Given the description of an element on the screen output the (x, y) to click on. 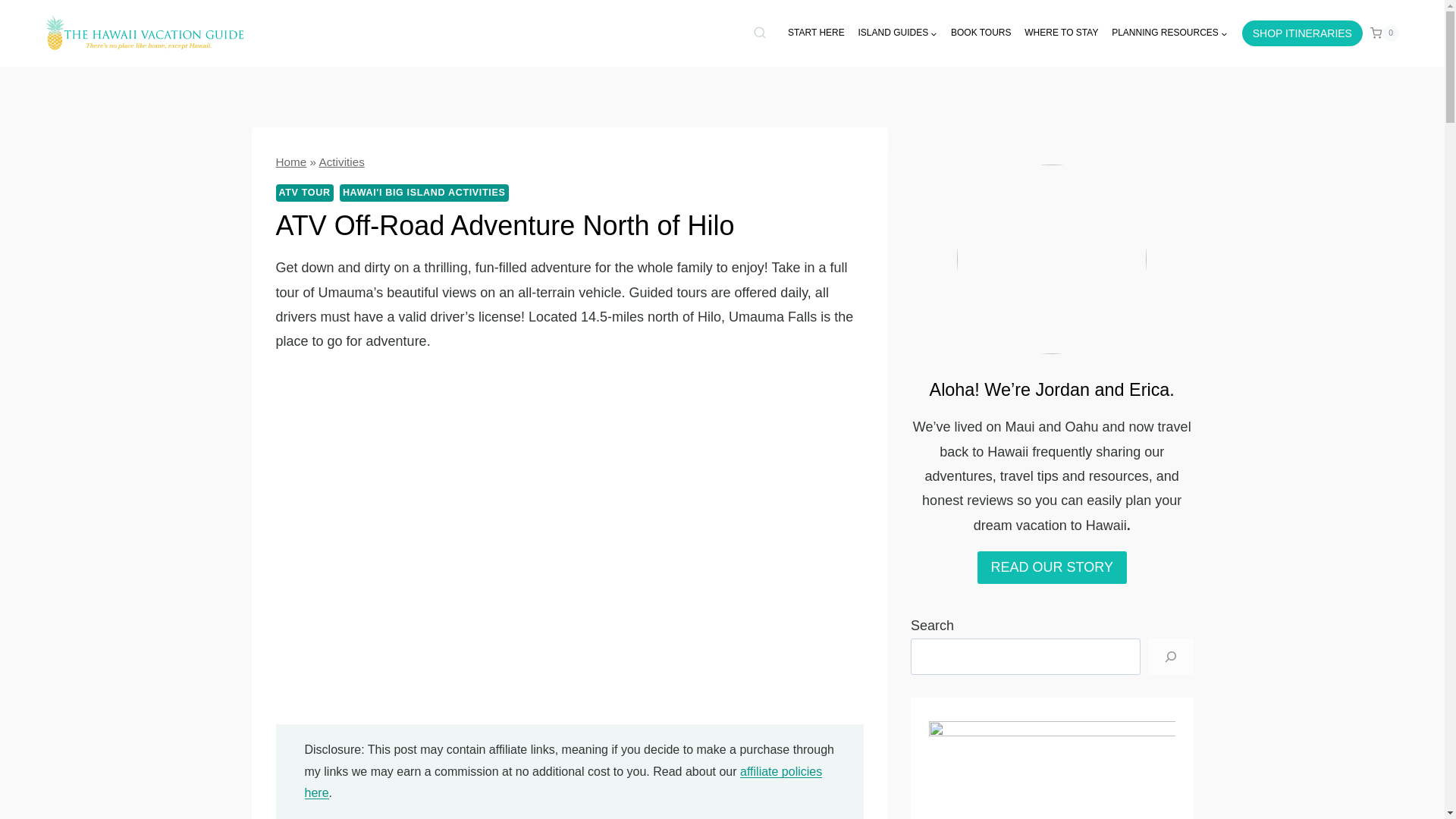
BOOK TOURS (980, 32)
0 (1384, 33)
WHERE TO STAY (1061, 32)
ISLAND GUIDES (897, 32)
PLANNING RESOURCES (1169, 32)
ATV TOUR (304, 192)
Home (291, 161)
affiliate policies here (563, 782)
Activities (341, 161)
HAWAI'I BIG ISLAND ACTIVITIES (423, 192)
